Given the description of an element on the screen output the (x, y) to click on. 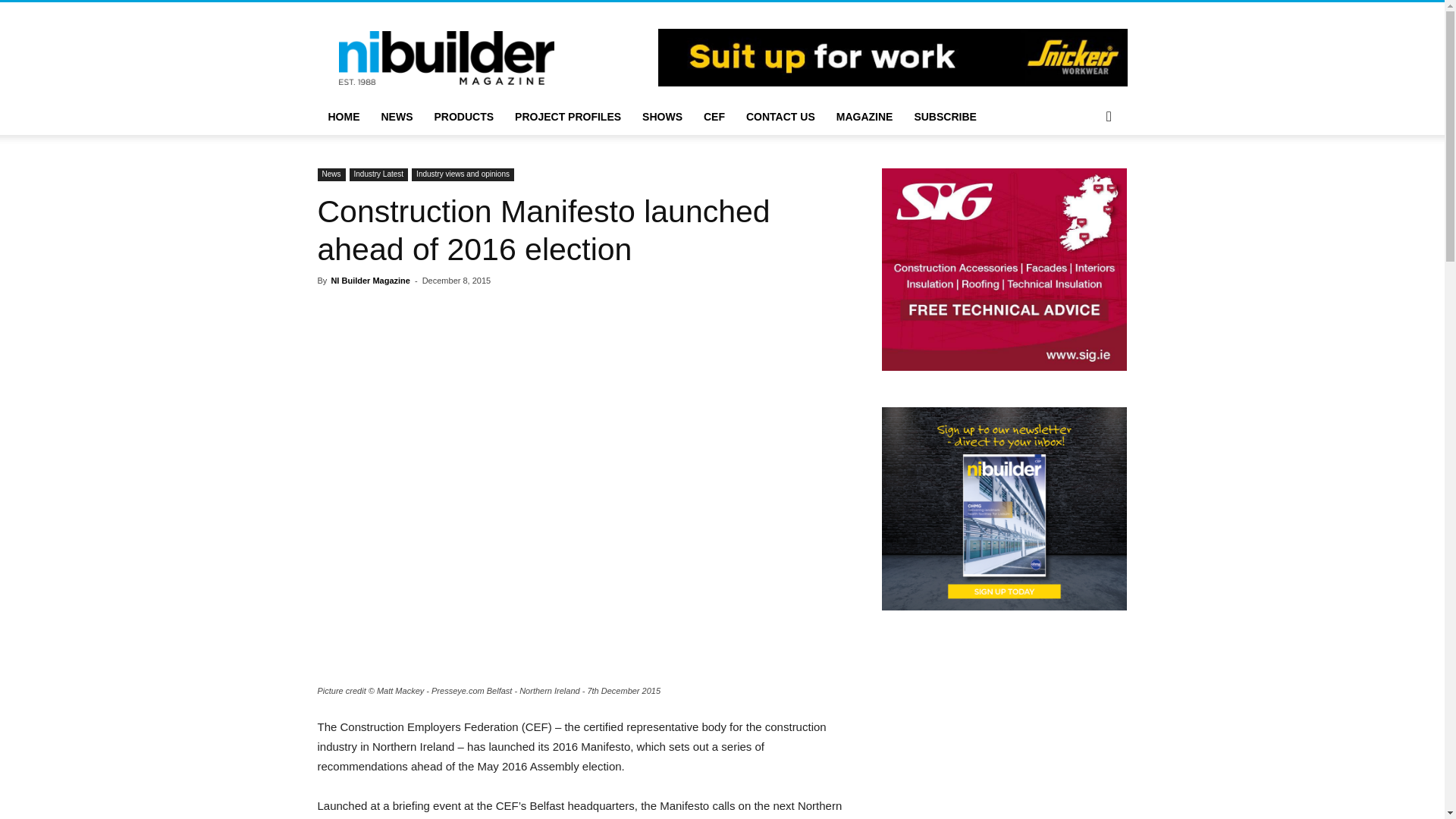
HOME (343, 116)
CEF (714, 116)
PROJECT PROFILES (567, 116)
Northern Builder Magazine (445, 57)
CONTACT US (780, 116)
NEWS (396, 116)
PRODUCTS (463, 116)
SHOWS (662, 116)
